Given the description of an element on the screen output the (x, y) to click on. 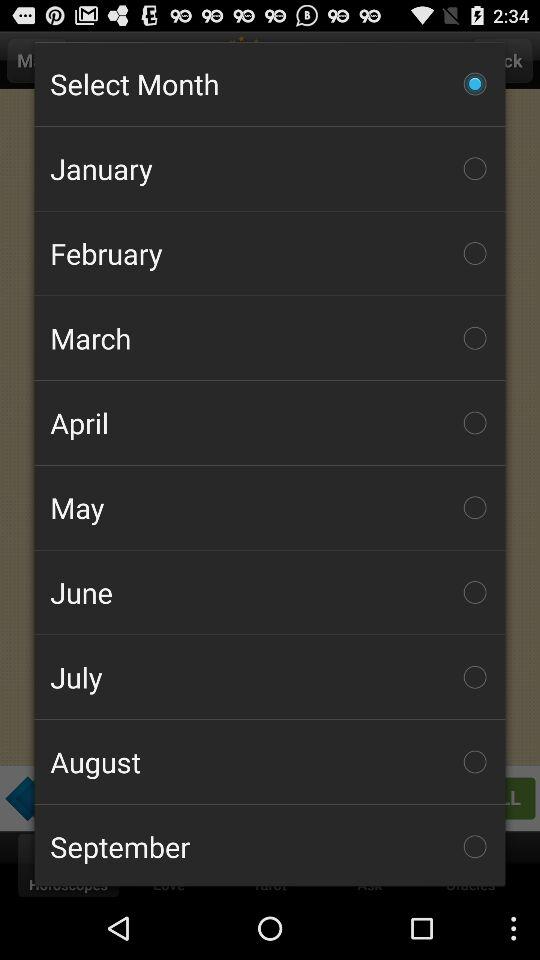
turn off the icon above july icon (269, 592)
